Given the description of an element on the screen output the (x, y) to click on. 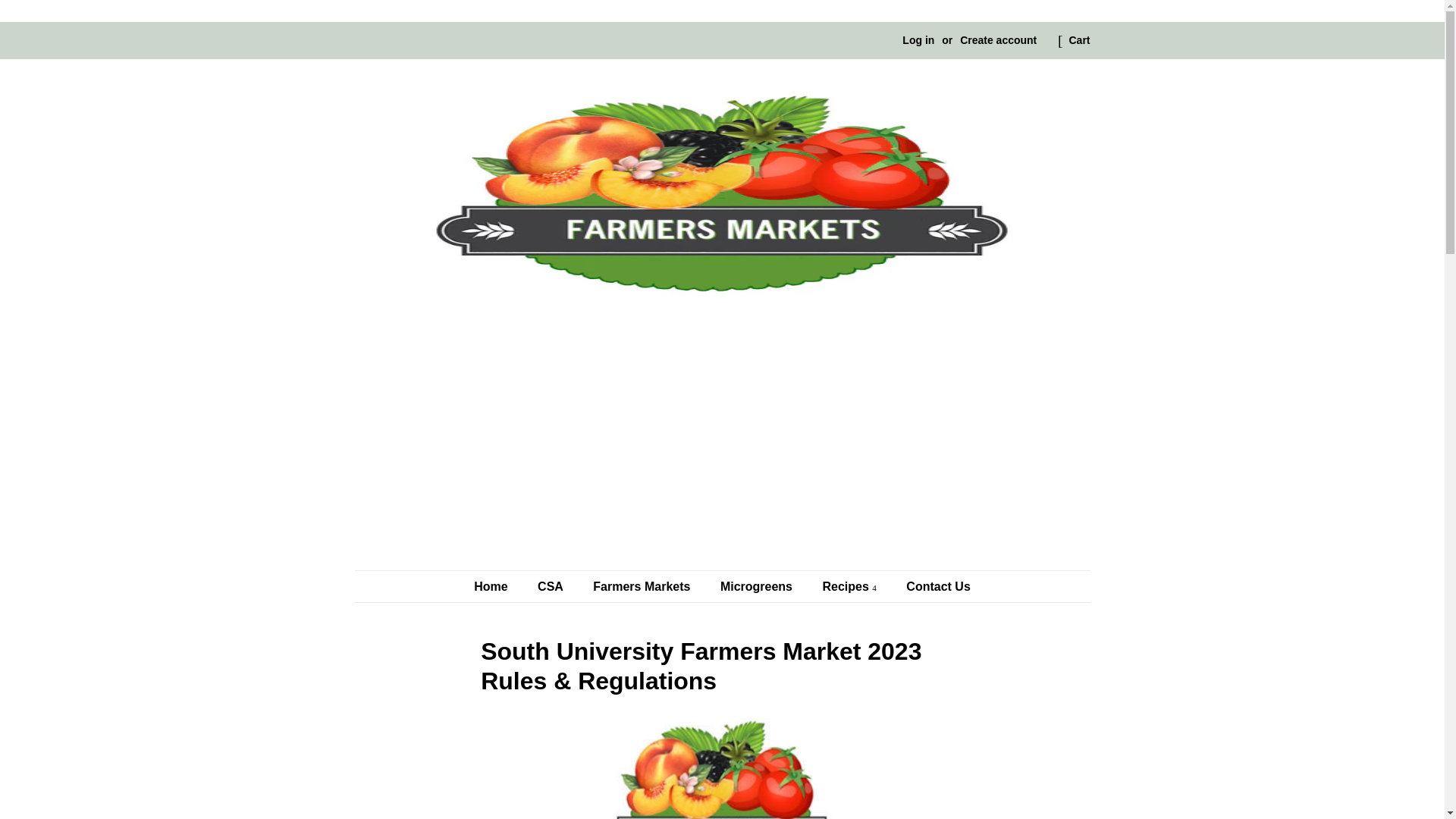
Home (498, 585)
Microgreens (758, 585)
Cart (1078, 40)
Farmers Markets (642, 585)
Recipes (850, 585)
Log in (918, 39)
Create account (997, 39)
Contact Us (932, 585)
CSA (551, 585)
